Given the description of an element on the screen output the (x, y) to click on. 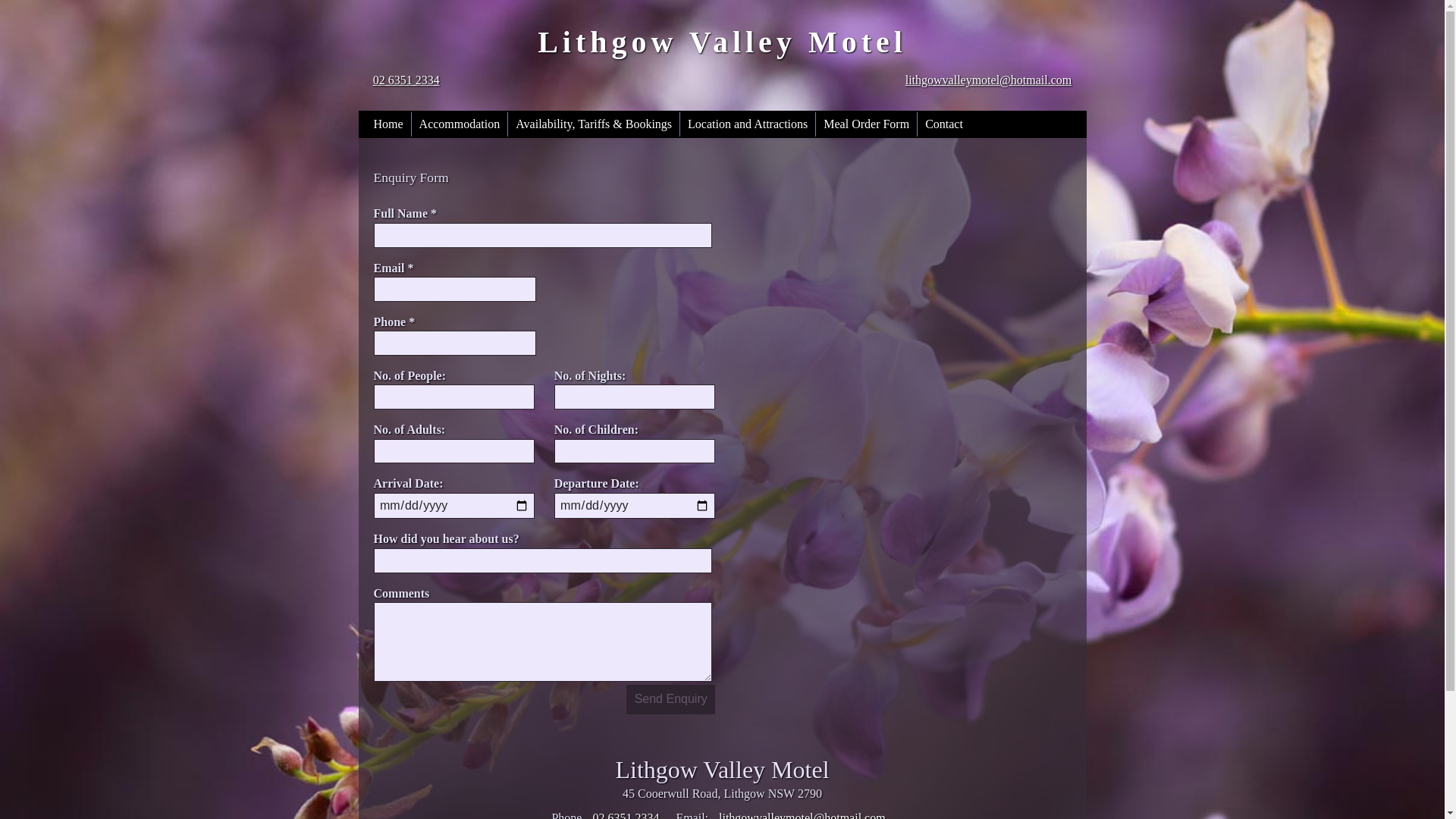
Location and Attractions Element type: text (747, 124)
Contact Element type: text (943, 124)
Meal Order Form Element type: text (865, 124)
Send Enquiry Element type: text (670, 699)
02 6351 2334 Element type: text (406, 80)
Lithgow Valley Motel Element type: text (721, 42)
Accommodation Element type: text (459, 124)
Availability, Tariffs & Bookings Element type: text (593, 124)
Home Element type: text (387, 124)
lithgowvalleymotel@hotmail.com Element type: text (988, 80)
